Given the description of an element on the screen output the (x, y) to click on. 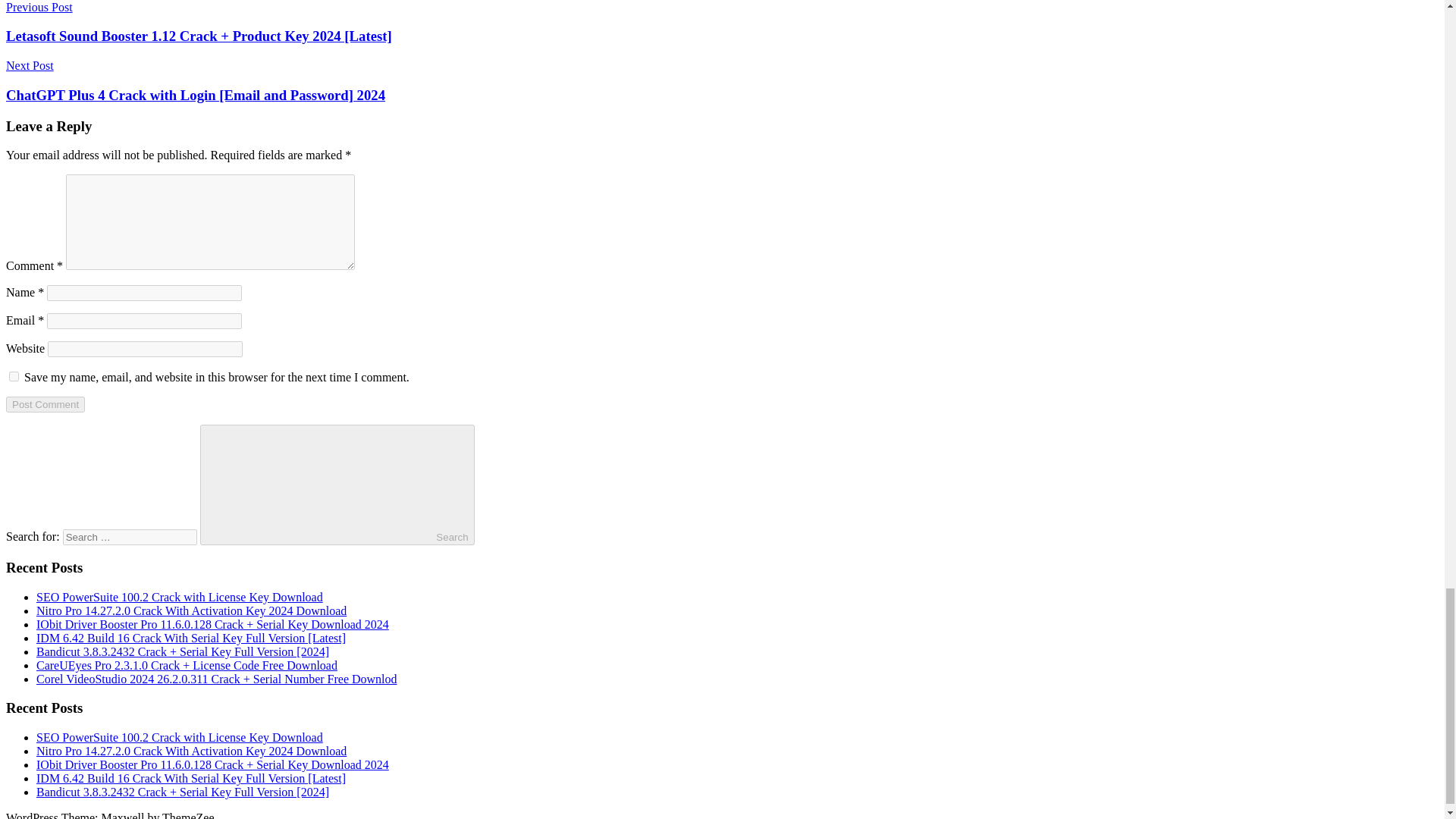
Nitro Pro 14.27.2.0 Crack With Activation Key 2024 Download (191, 750)
Nitro Pro 14.27.2.0 Crack With Activation Key 2024 Download (191, 610)
yes (13, 376)
Search (337, 485)
SEO PowerSuite 100.2 Crack with License Key Download (179, 596)
Post Comment (44, 404)
Post Comment (44, 404)
Search for: (129, 537)
SEO PowerSuite 100.2 Crack with License Key Download (179, 737)
